Given the description of an element on the screen output the (x, y) to click on. 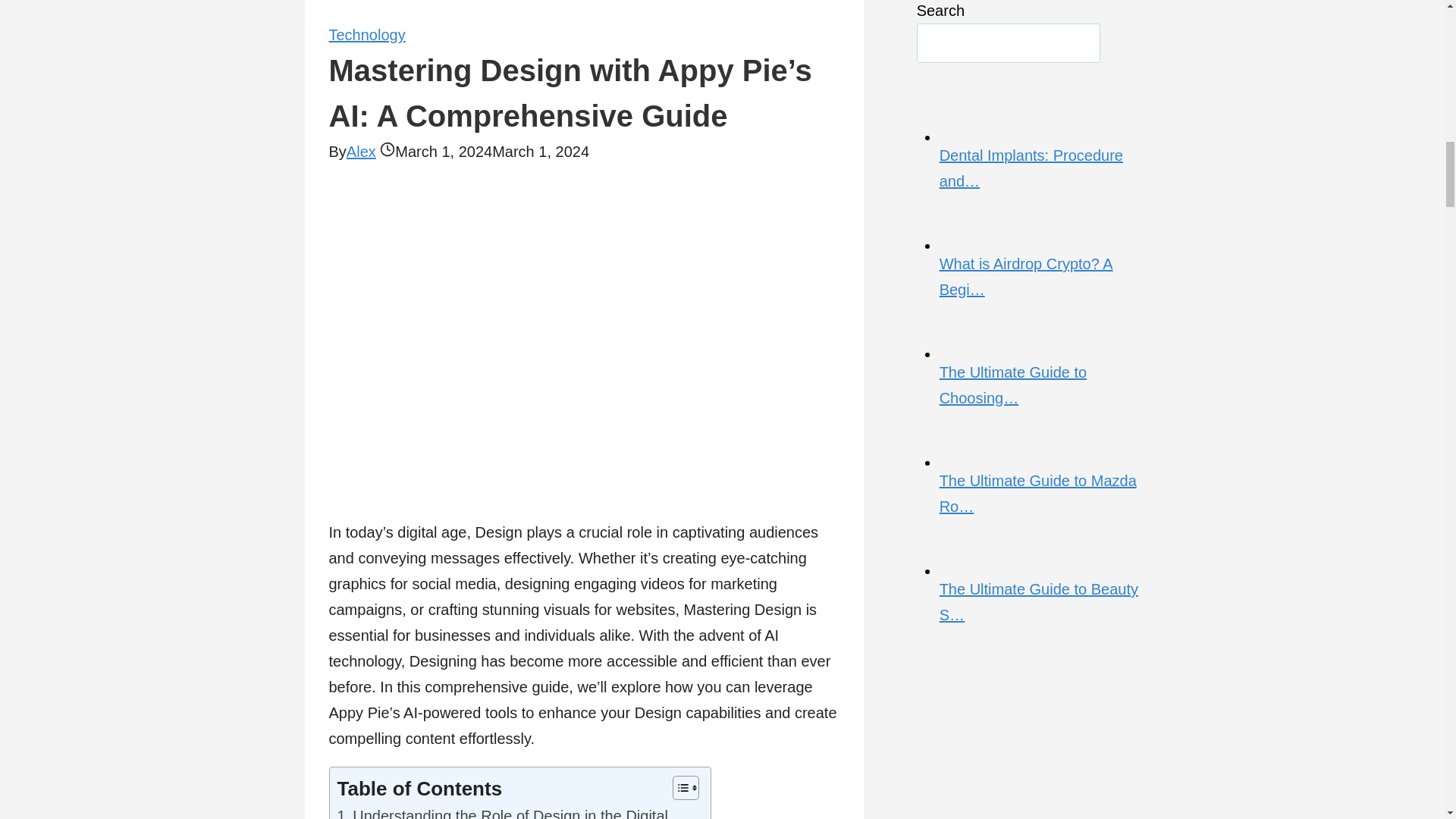
Understanding the Role of Design in the Digital Landscape: (515, 811)
